Given the description of an element on the screen output the (x, y) to click on. 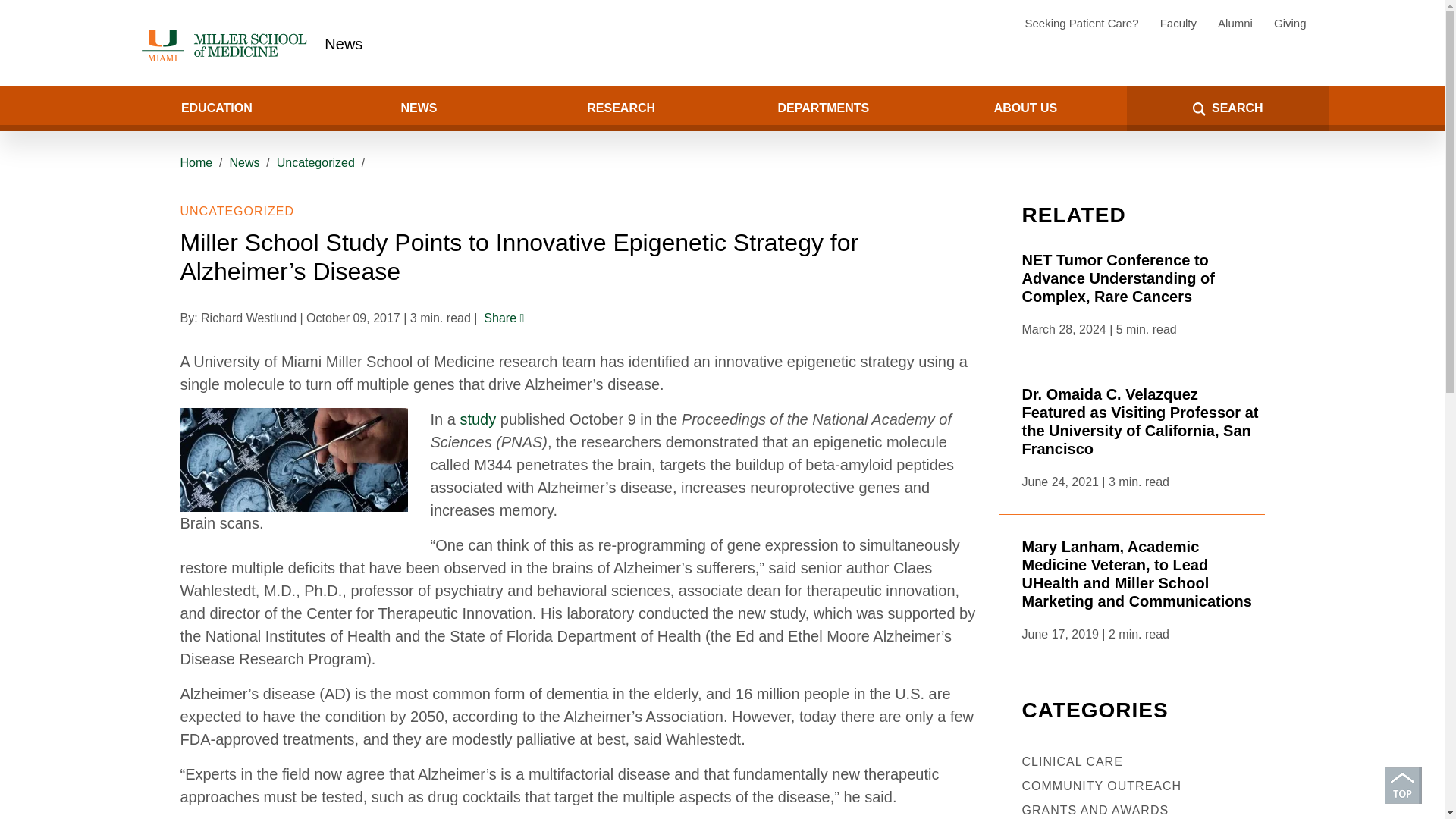
Search (57, 108)
EDUCATION (216, 108)
Miller School of Medicine (227, 45)
RESEARCH (620, 108)
NEWS (418, 108)
News (343, 44)
